Given the description of an element on the screen output the (x, y) to click on. 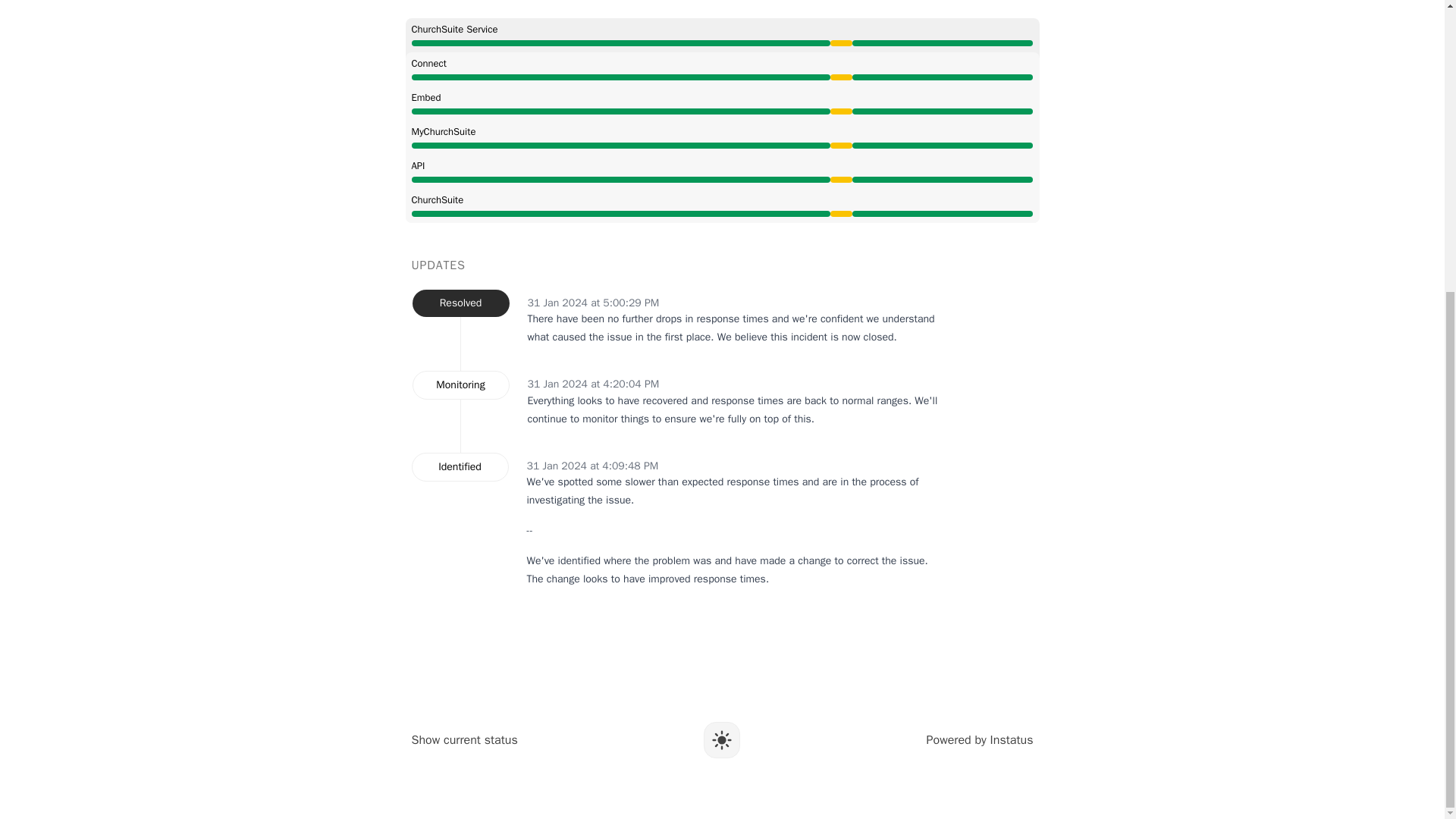
Show current status (463, 740)
Switch dark mode (721, 739)
Powered by Instatus (979, 740)
